Given the description of an element on the screen output the (x, y) to click on. 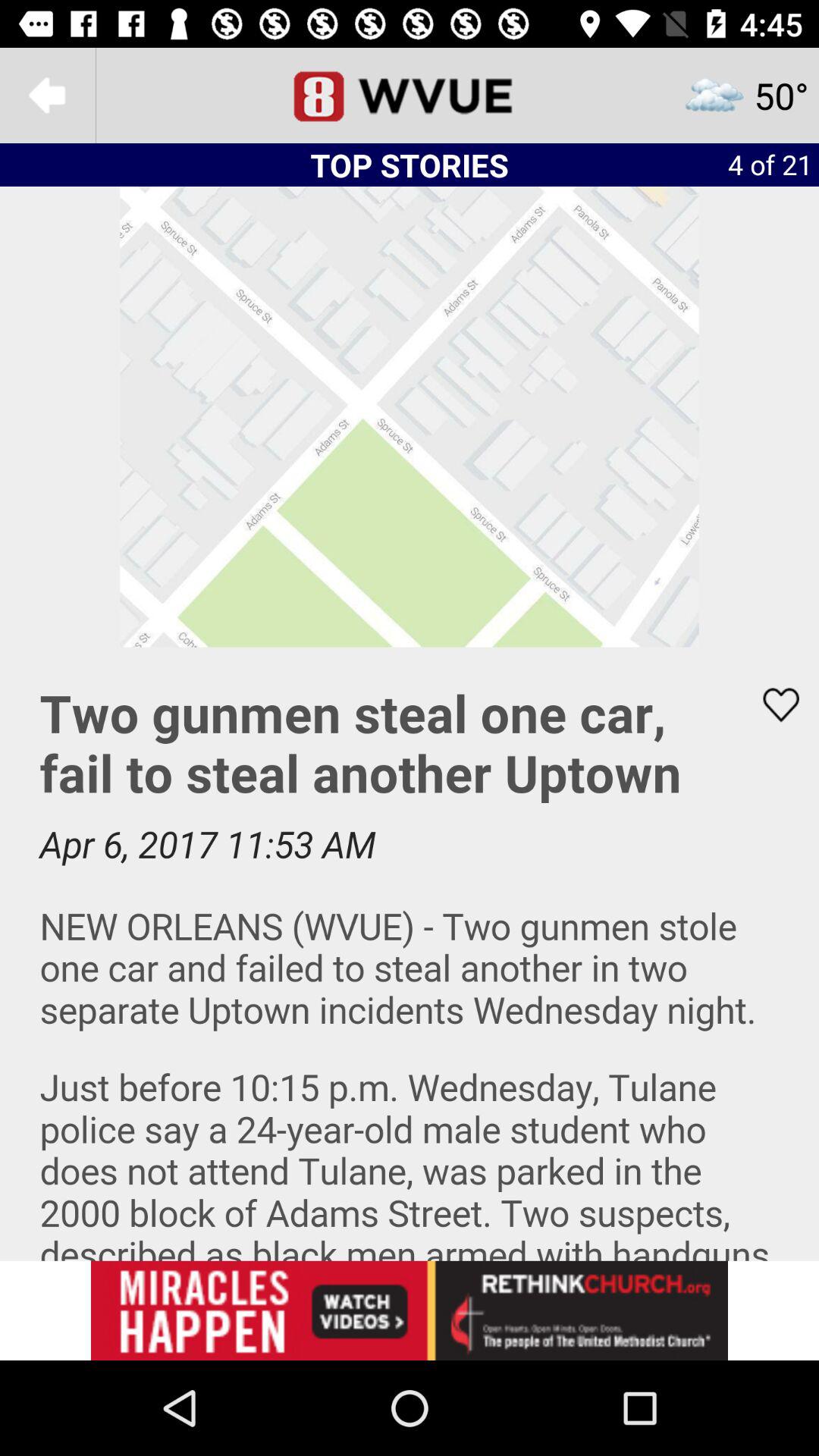
go back (47, 95)
